Given the description of an element on the screen output the (x, y) to click on. 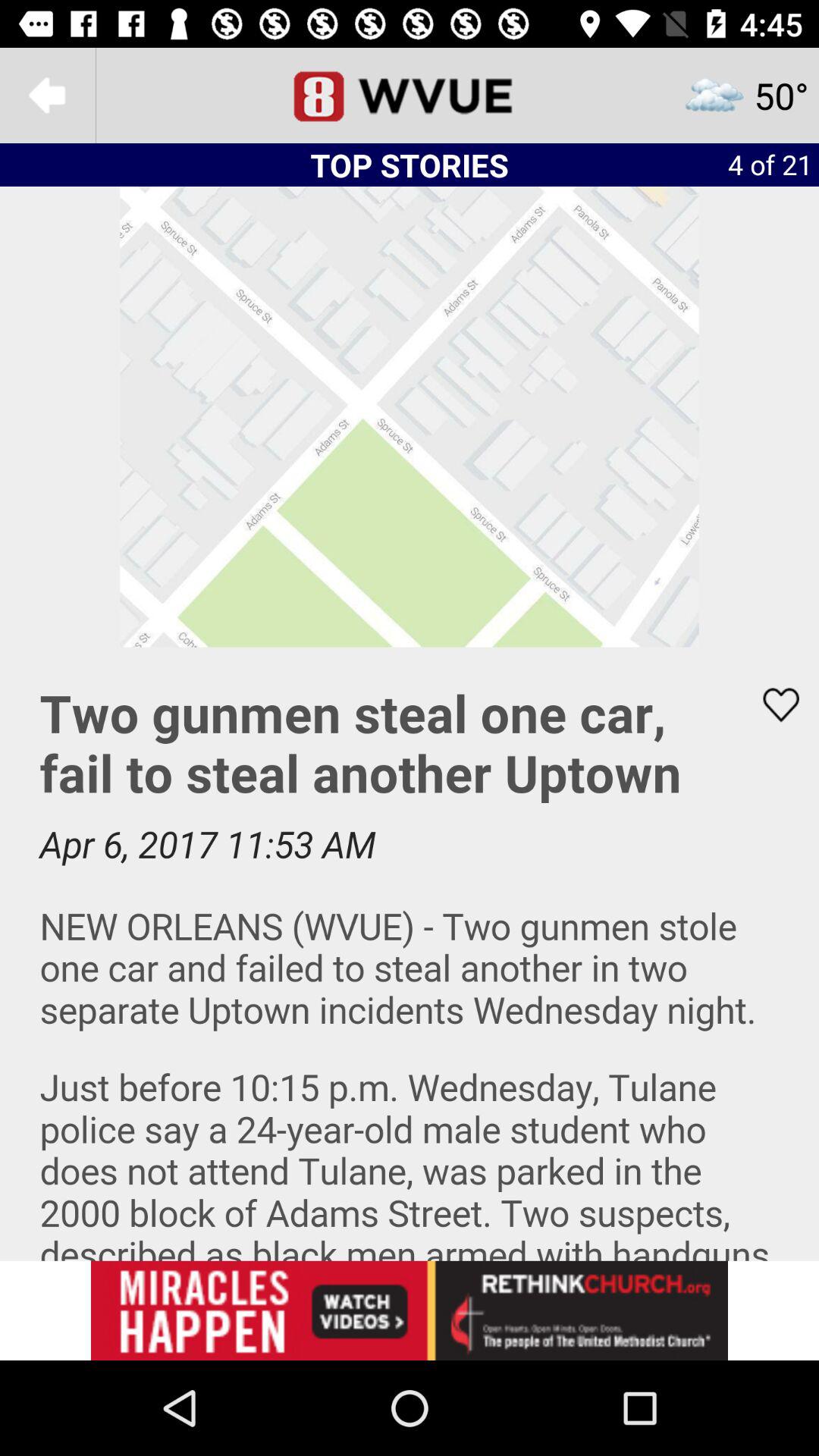
go back (47, 95)
